Given the description of an element on the screen output the (x, y) to click on. 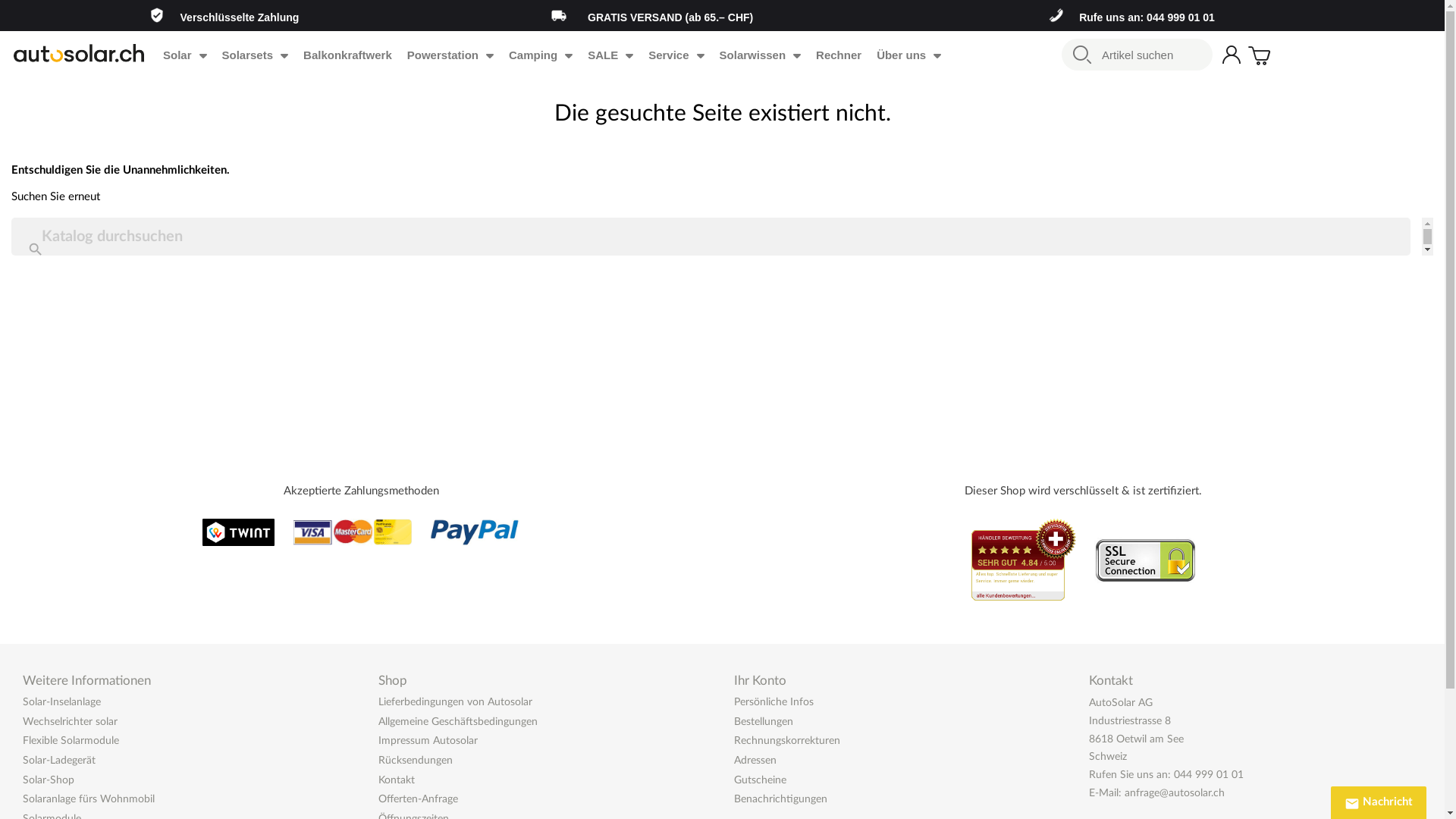
Flexible Solarmodule Element type: text (70, 740)
Camping Element type: text (540, 54)
Rechnungskorrekturen Element type: text (787, 740)
Offerten-Anfrage Element type: text (418, 798)
Balkonkraftwerk Element type: text (347, 54)
SALE Element type: text (610, 54)
Solar-Inselanlage Element type: text (61, 701)
Service Element type: text (675, 54)
Adressen Element type: text (755, 760)
Solar Element type: text (184, 54)
Rechner Element type: text (838, 54)
Wechselrichter solar Element type: text (69, 721)
Solarsets Element type: text (255, 54)
Solar-Shop Element type: text (48, 780)
Benachrichtigungen Element type: text (780, 798)
Lieferbedingungen von Autosolar Element type: text (455, 701)
Impressum Autosolar Element type: text (427, 740)
Bestellungen Element type: text (763, 721)
Kontakt Element type: text (396, 780)
Rufe uns an: 044 999 01 01 Element type: text (1146, 16)
Gutscheine Element type: text (760, 780)
Powerstation Element type: text (450, 54)
Solarwissen Element type: text (760, 54)
